Given the description of an element on the screen output the (x, y) to click on. 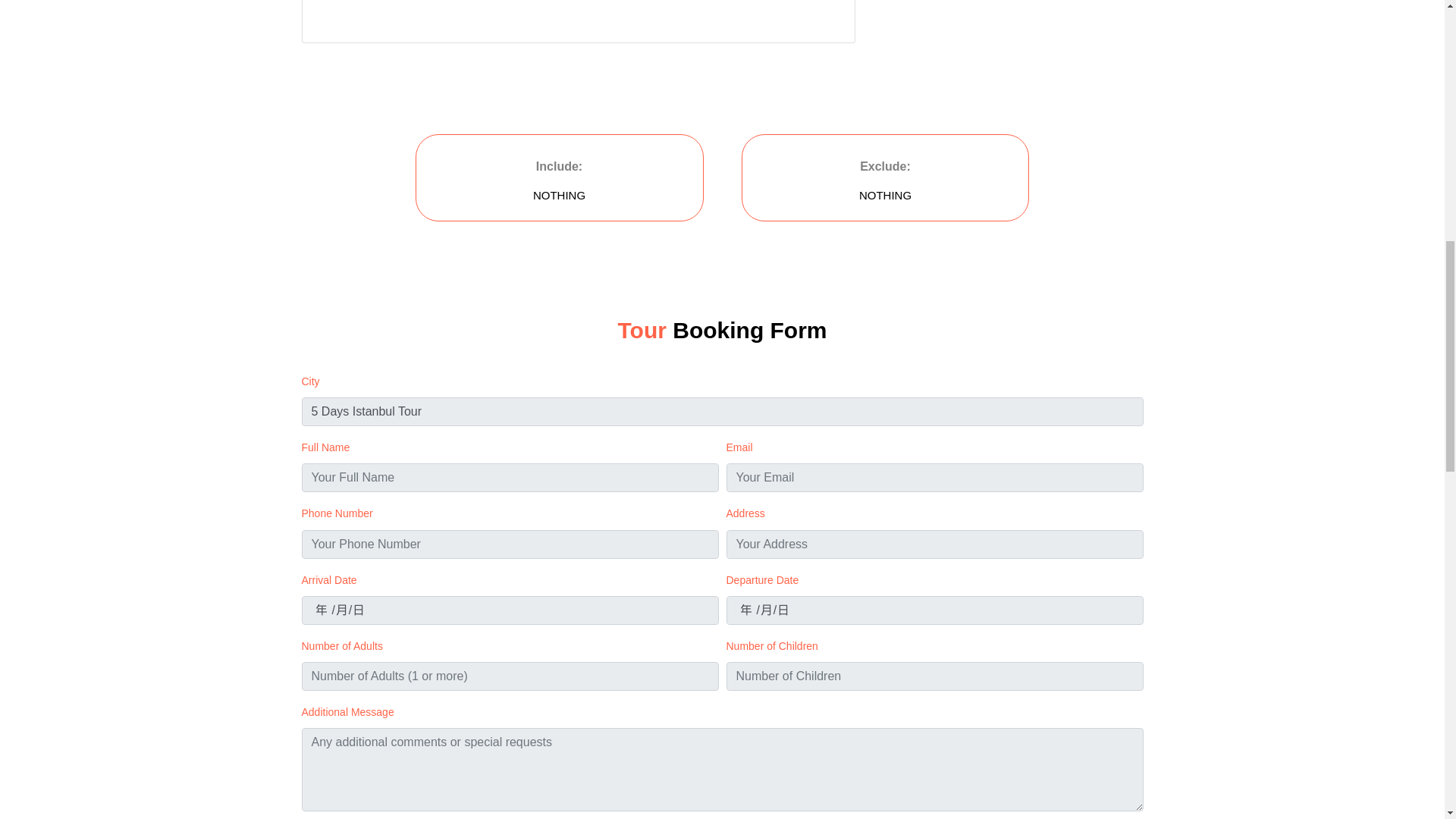
5 Days Istanbul Tour (721, 411)
